Given the description of an element on the screen output the (x, y) to click on. 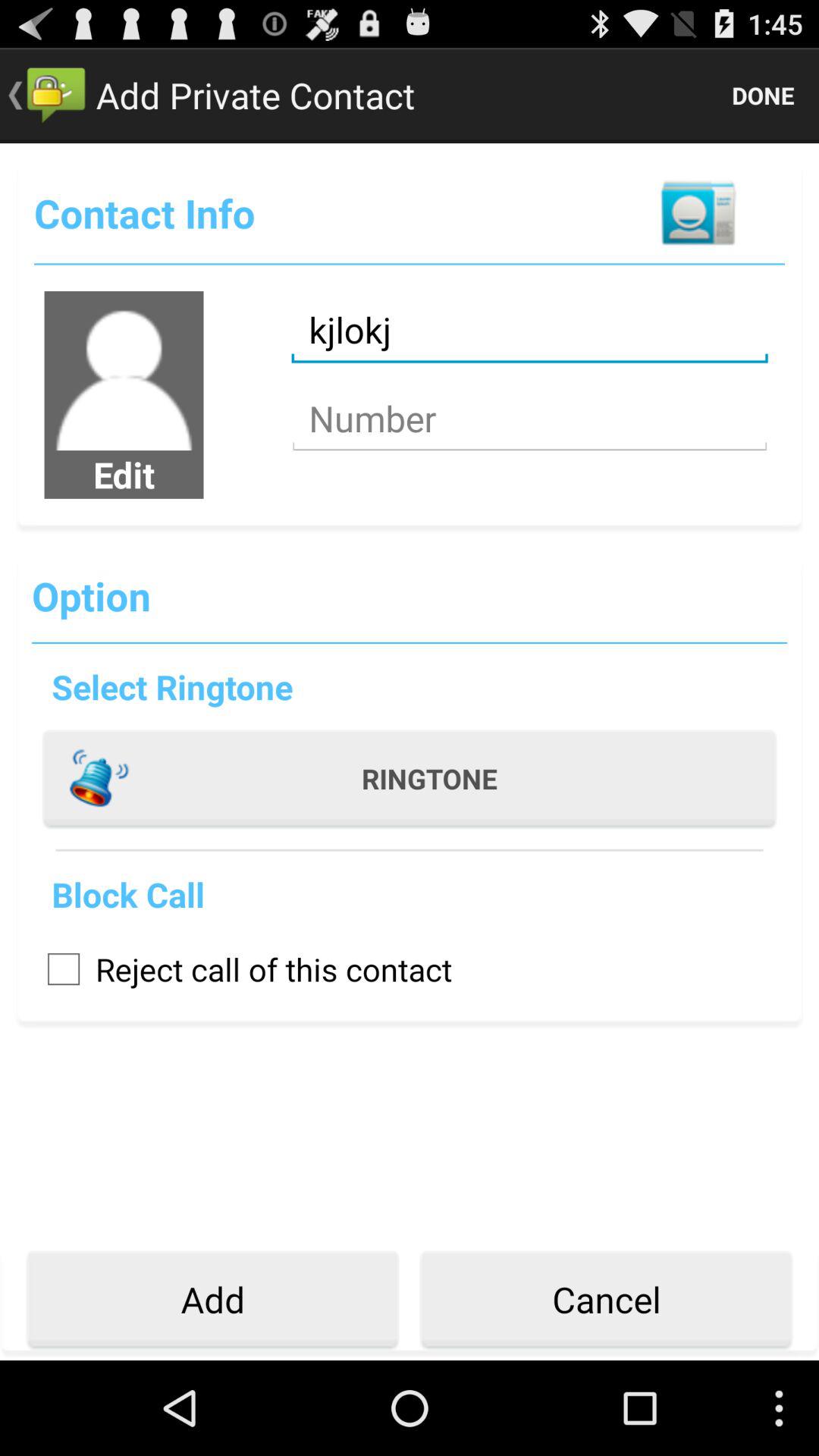
save a phone number (529, 418)
